Given the description of an element on the screen output the (x, y) to click on. 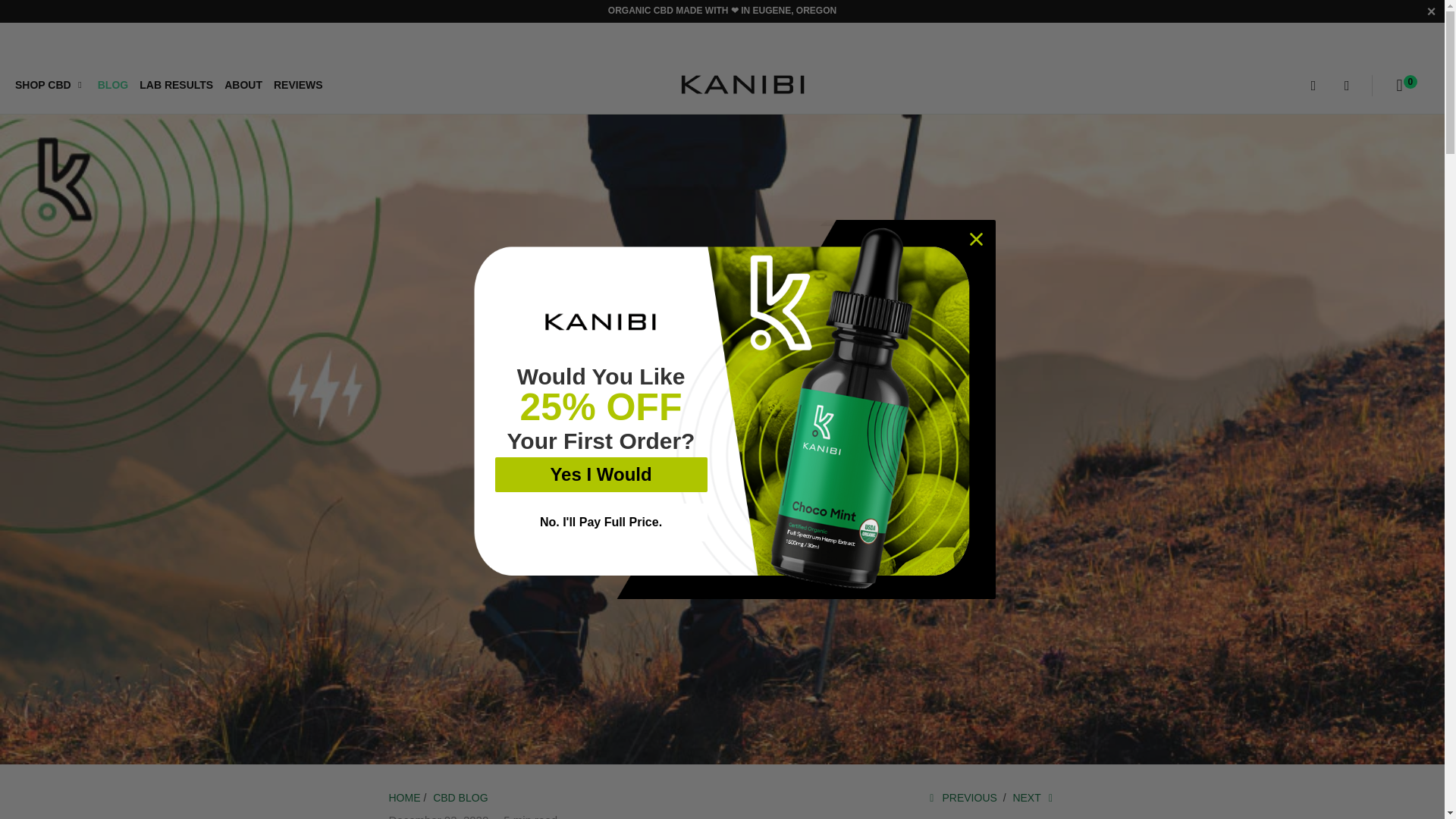
KANIBI on LinkedIn (90, 41)
KANIBI on Instagram (57, 41)
KANIBI (742, 85)
KANIBI on Facebook (22, 41)
Search (1313, 84)
CBD Blog (459, 797)
KANIBI (404, 797)
